Given the description of an element on the screen output the (x, y) to click on. 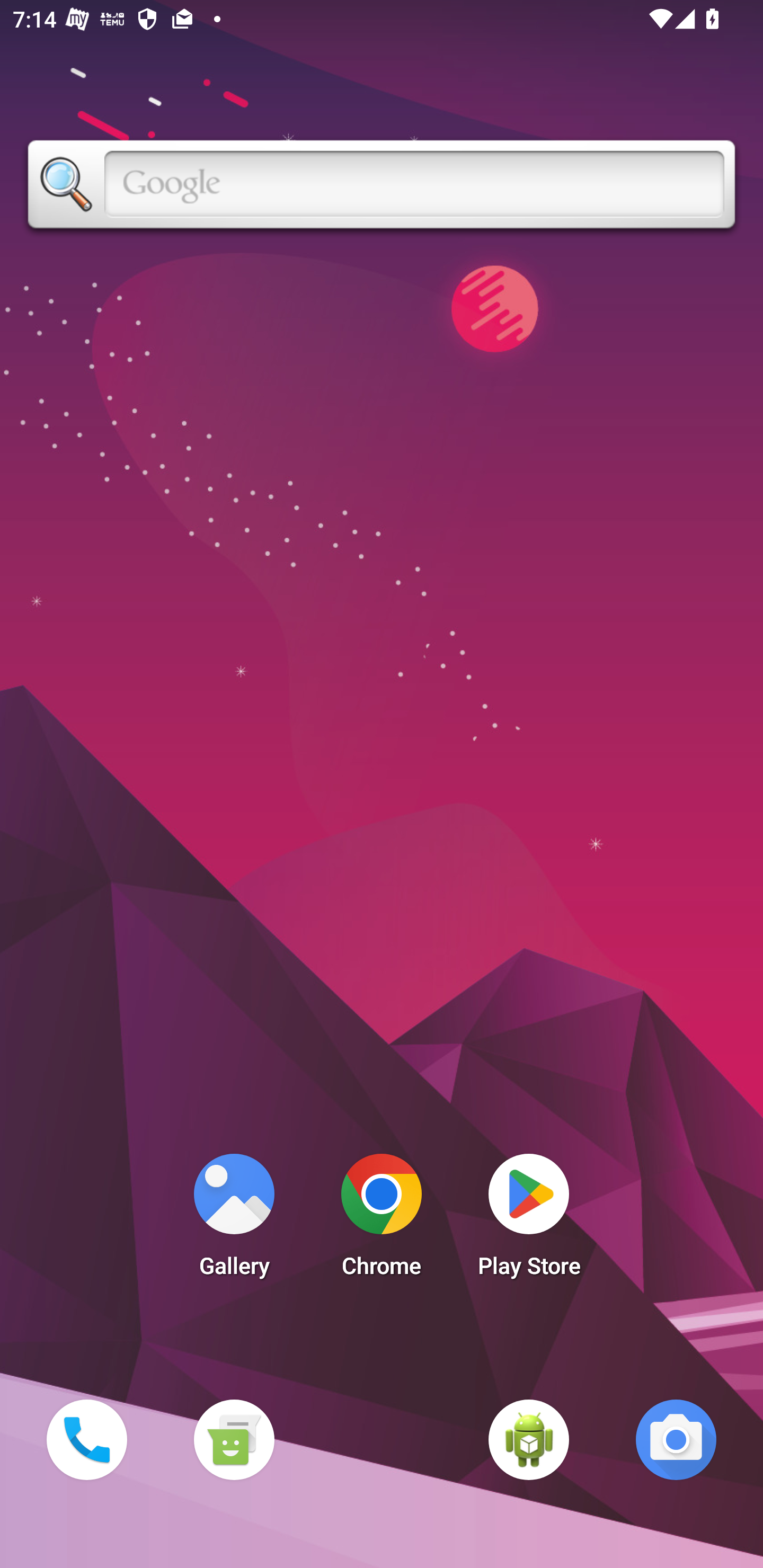
Gallery (233, 1220)
Chrome (381, 1220)
Play Store (528, 1220)
Phone (86, 1439)
Messaging (233, 1439)
WebView Browser Tester (528, 1439)
Camera (676, 1439)
